Given the description of an element on the screen output the (x, y) to click on. 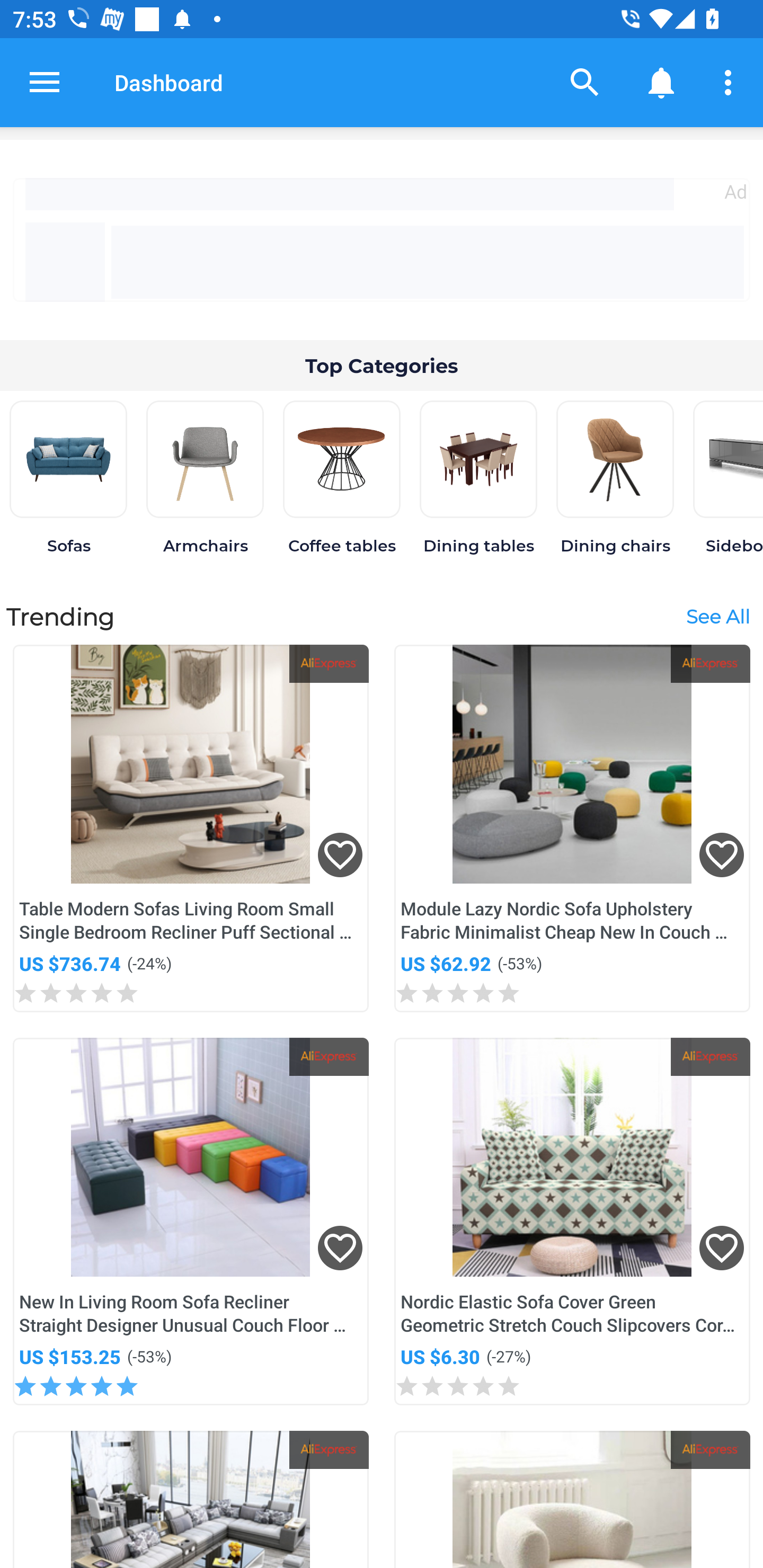
Open navigation drawer (44, 82)
Search (585, 81)
More options (731, 81)
See All (717, 615)
